Given the description of an element on the screen output the (x, y) to click on. 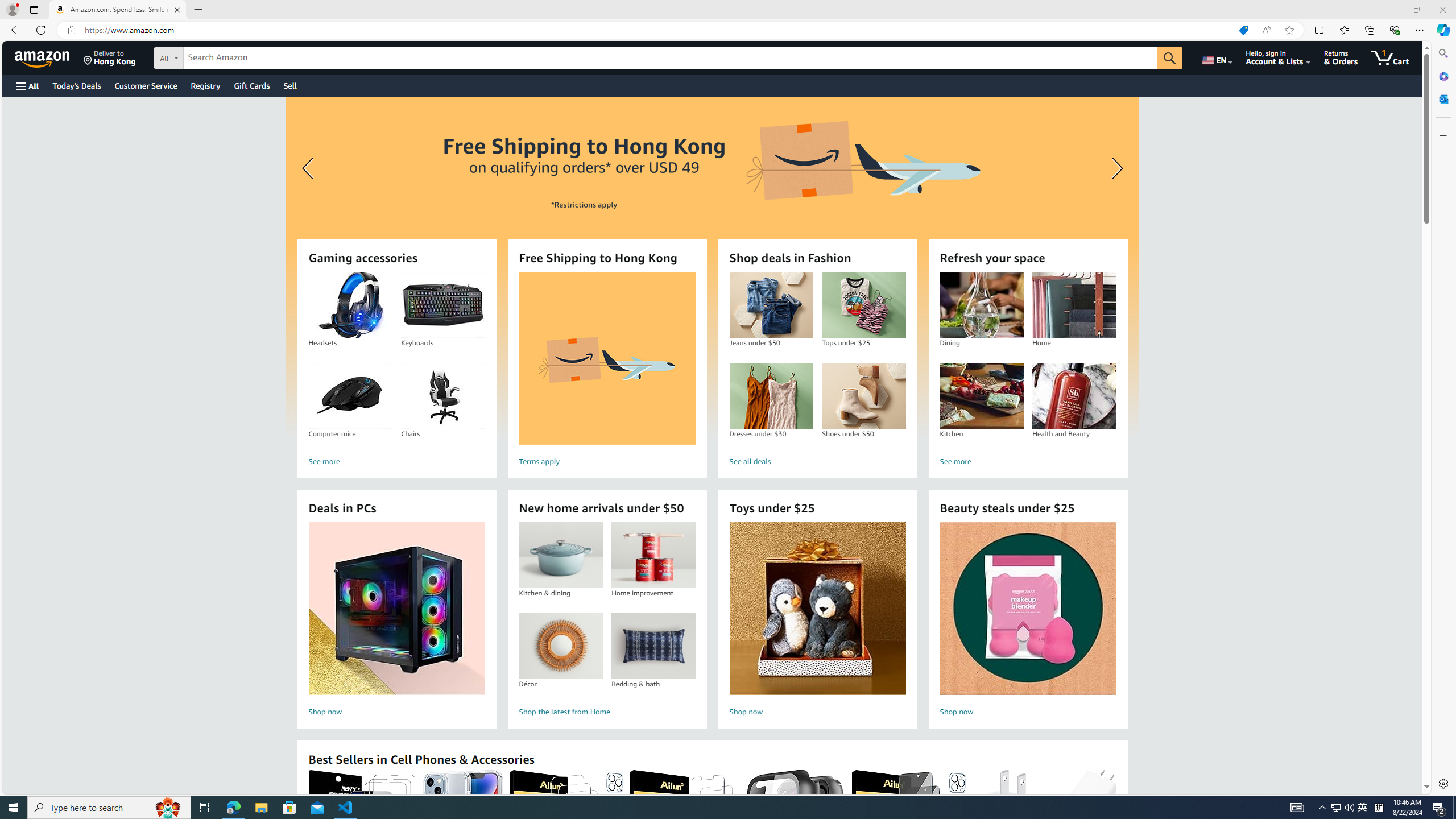
Visual Studio Code - 1 running window (345, 807)
Health and Beauty (1074, 395)
Customize Layout... (1369, 9)
Explorer actions (118, 29)
No Ports Forwarded (68, 789)
Home improvement (653, 555)
Explorer (Ctrl+Shift+E) (13, 33)
Ports (380, 539)
Match Whole Word (Alt+W) (1251, 61)
Settings (1442, 783)
Go (134, 9)
Help (214, 9)
Match Case (Alt+C) (1239, 61)
Selection (80, 9)
